Given the description of an element on the screen output the (x, y) to click on. 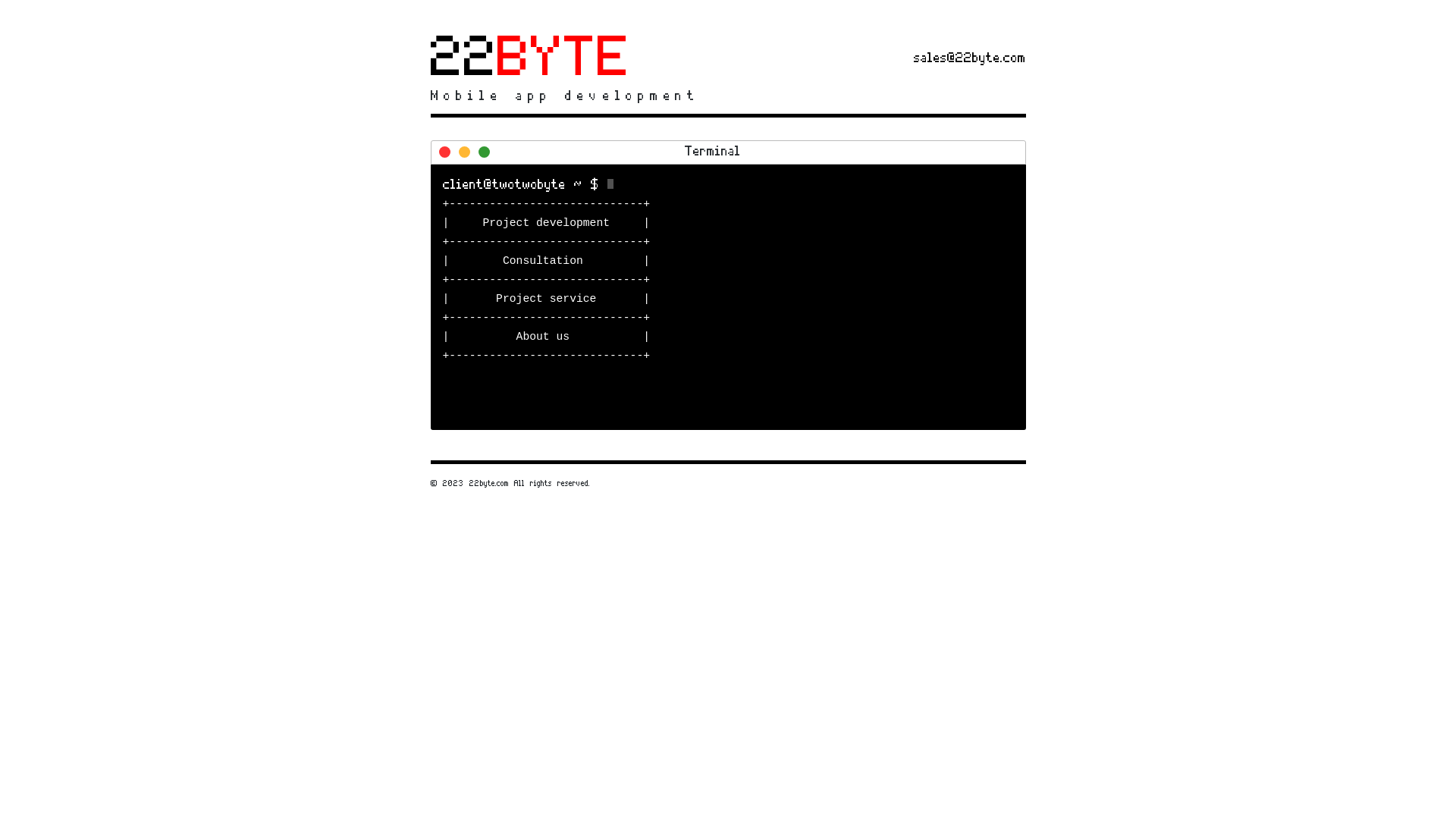
|          About us           | Element type: text (546, 336)
22BYTE
Mobile app development Element type: text (576, 64)
sales@22byte.com Element type: text (969, 56)
|       Project service       | Element type: text (546, 298)
|        Consultation         | Element type: text (546, 260)
|     Project development     | Element type: text (546, 222)
